Given the description of an element on the screen output the (x, y) to click on. 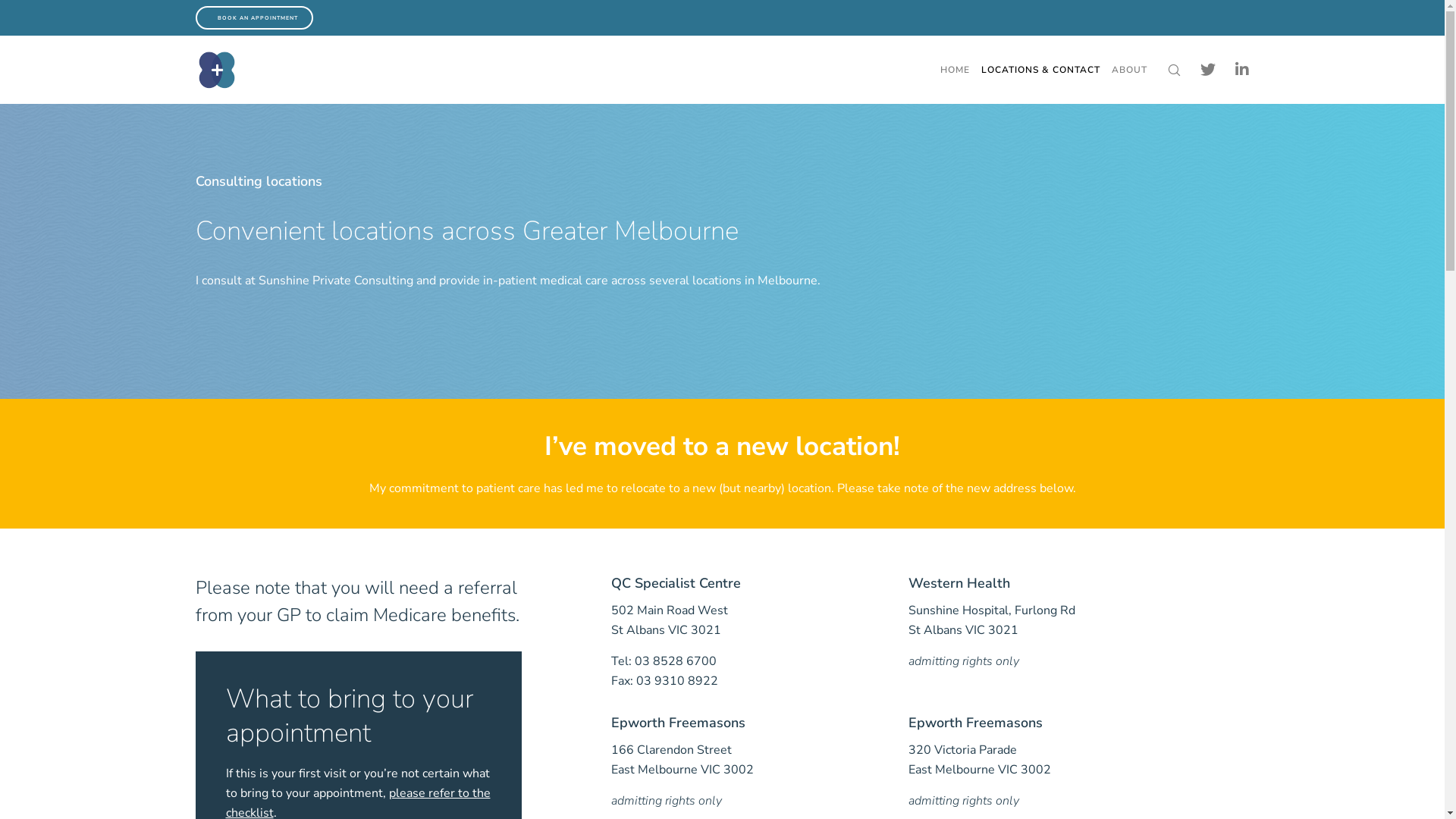
ABOUT Element type: text (1127, 69)
HOME Element type: text (954, 69)
LOCATIONS & CONTACT Element type: text (1040, 69)
BOOK AN APPOINTMENT Element type: text (254, 17)
